Given the description of an element on the screen output the (x, y) to click on. 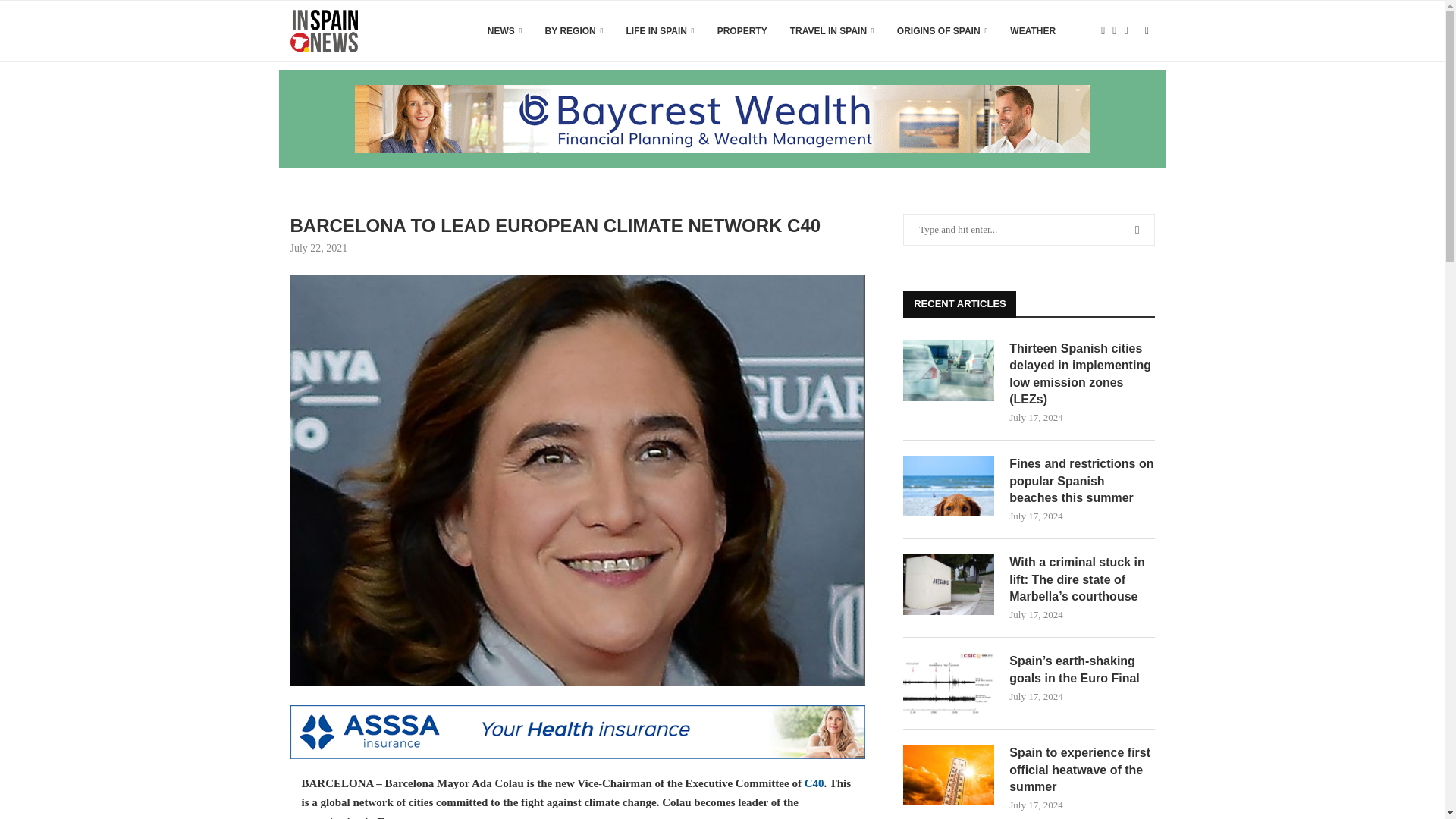
WEATHER (1032, 30)
ORIGINS OF SPAIN (942, 30)
C40 (814, 783)
BY REGION (574, 30)
LIFE IN SPAIN (660, 30)
PROPERTY (742, 30)
TRAVEL IN SPAIN (832, 30)
NEWS (504, 30)
